Given the description of an element on the screen output the (x, y) to click on. 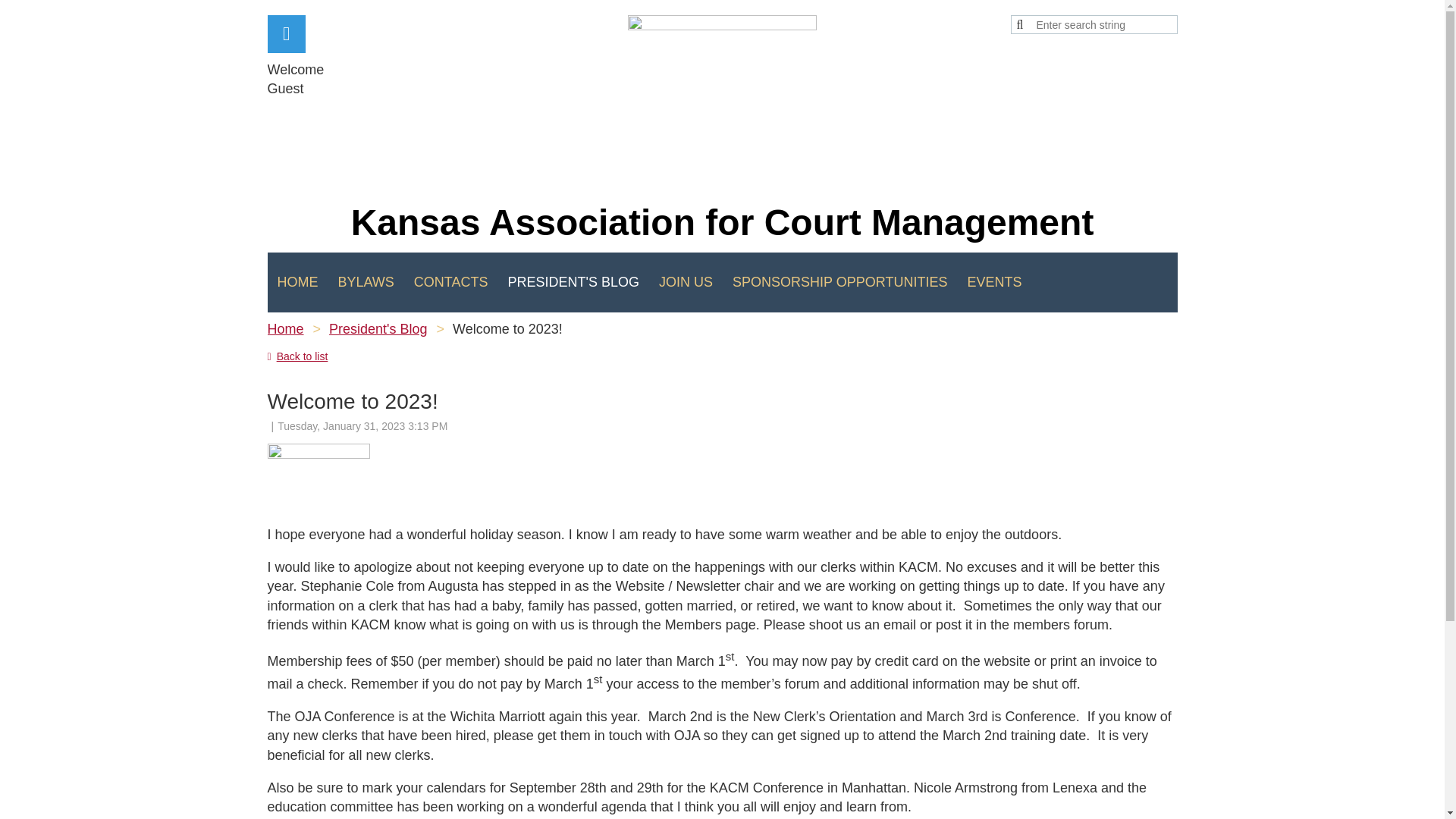
President's Blog (573, 282)
JOIN US (685, 282)
Back to list (296, 356)
HOME (296, 282)
BYLAWS (365, 282)
Home (284, 328)
Bylaws (365, 282)
Events (993, 282)
Sponsorship Opportunities (839, 282)
Join us (685, 282)
SPONSORSHIP OPPORTUNITIES (839, 282)
EVENTS (993, 282)
Log in (285, 34)
Home (296, 282)
CONTACTS (450, 282)
